Given the description of an element on the screen output the (x, y) to click on. 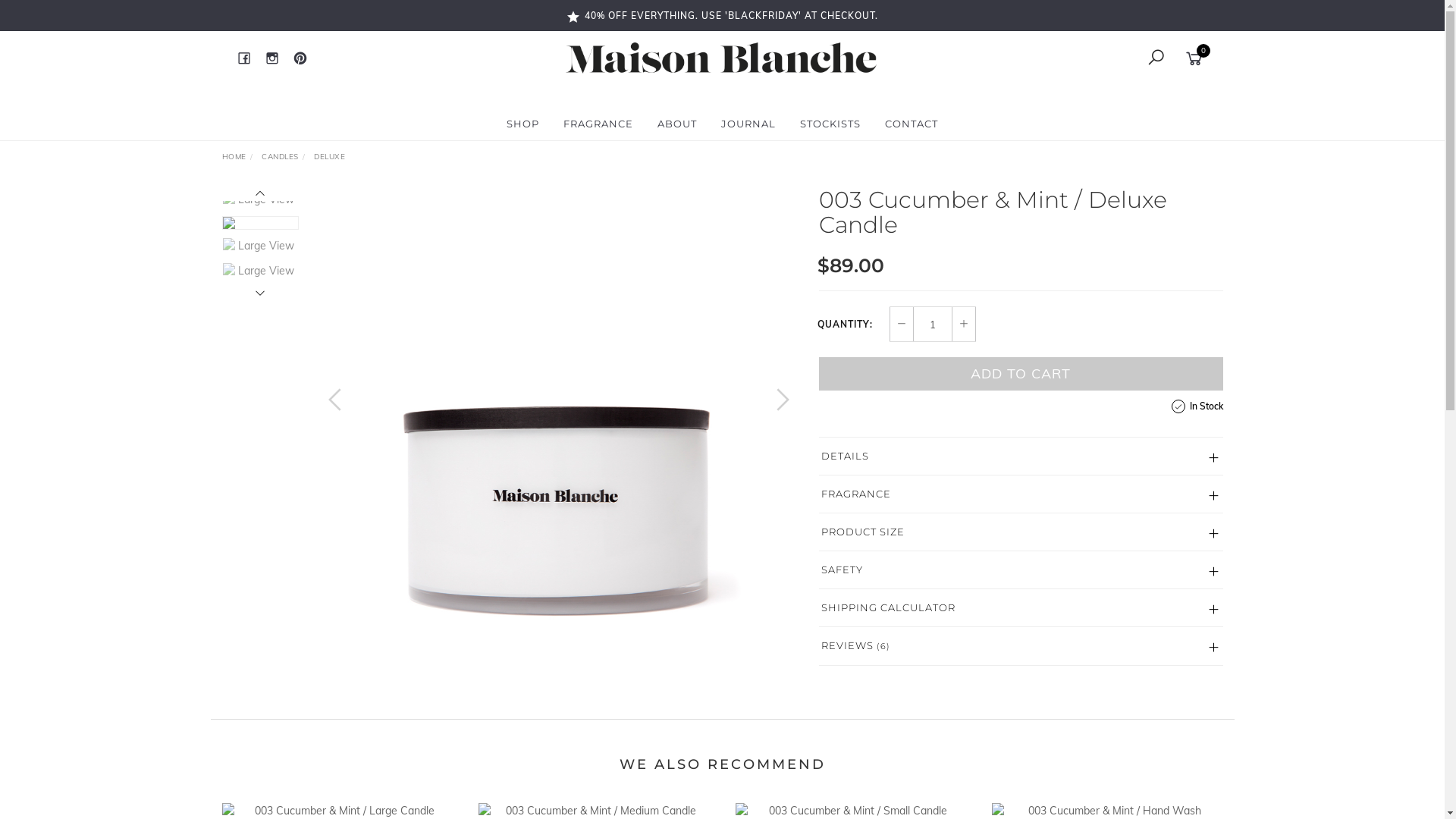
ADD TO CART Element type: text (1021, 373)
FRAGRANCE Element type: text (1021, 493)
Large View Element type: hover (260, 246)
DELUXE Element type: text (329, 156)
CONTACT Element type: text (911, 123)
Large View Element type: hover (260, 199)
JOURNAL Element type: text (748, 123)
ABOUT Element type: text (676, 123)
SAFETY Element type: text (1021, 569)
0 Element type: text (1196, 56)
REVIEWS (6) Element type: text (1021, 646)
40% OFF EVERYTHING. USE 'BLACKFRIDAY' AT CHECKOUT. Element type: text (722, 15)
HOME Element type: text (233, 156)
DETAILS Element type: text (1021, 455)
Large View Element type: hover (558, 414)
SHOP Element type: text (522, 123)
PRODUCT SIZE Element type: text (1021, 531)
Large View Element type: hover (260, 271)
Maison Blanche Element type: hover (720, 56)
SHIPPING CALCULATOR Element type: text (1021, 607)
CANDLES Element type: text (279, 156)
STOCKISTS Element type: text (830, 123)
FRAGRANCE Element type: text (597, 123)
